Given the description of an element on the screen output the (x, y) to click on. 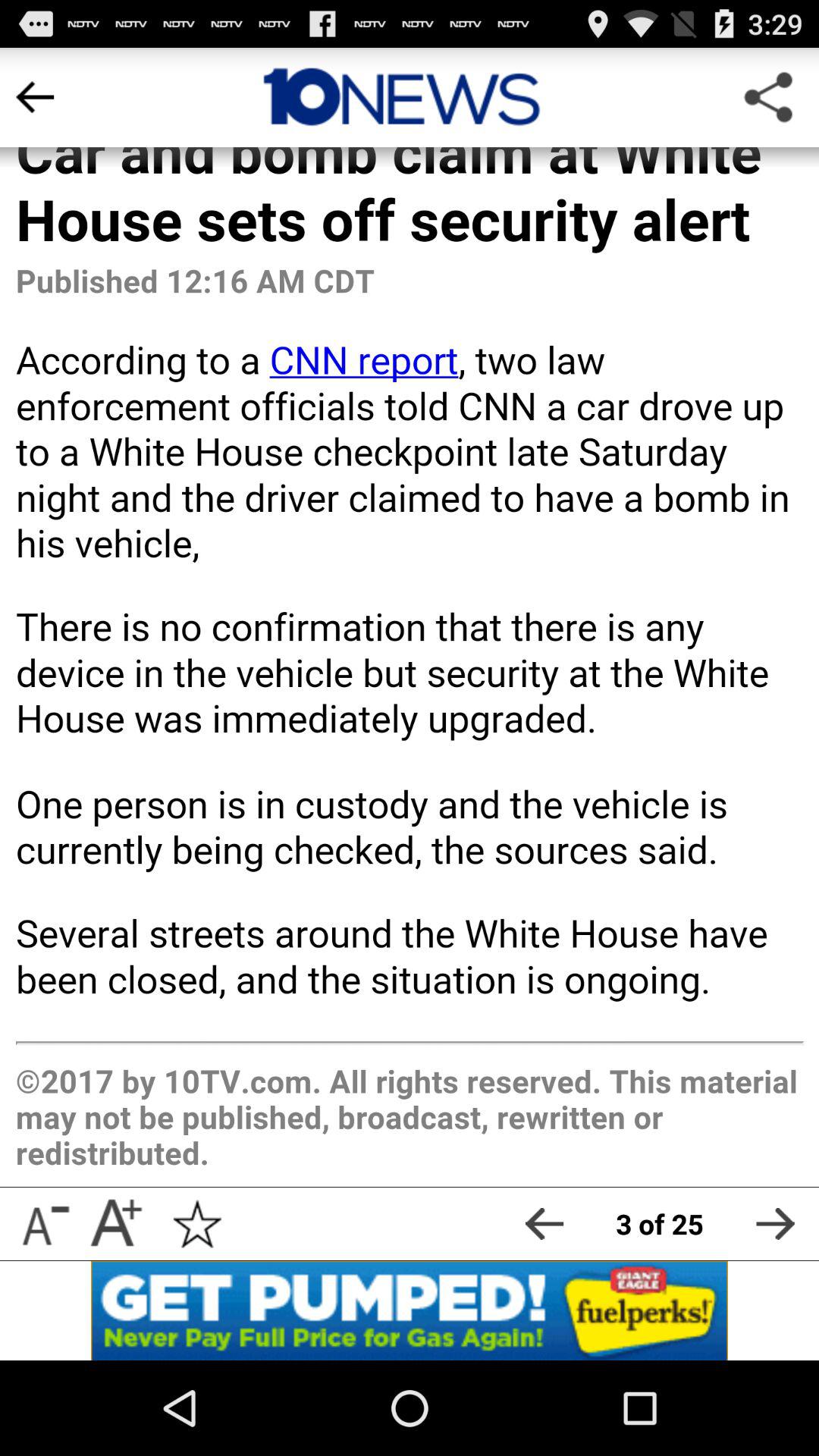
star article (197, 1223)
